Given the description of an element on the screen output the (x, y) to click on. 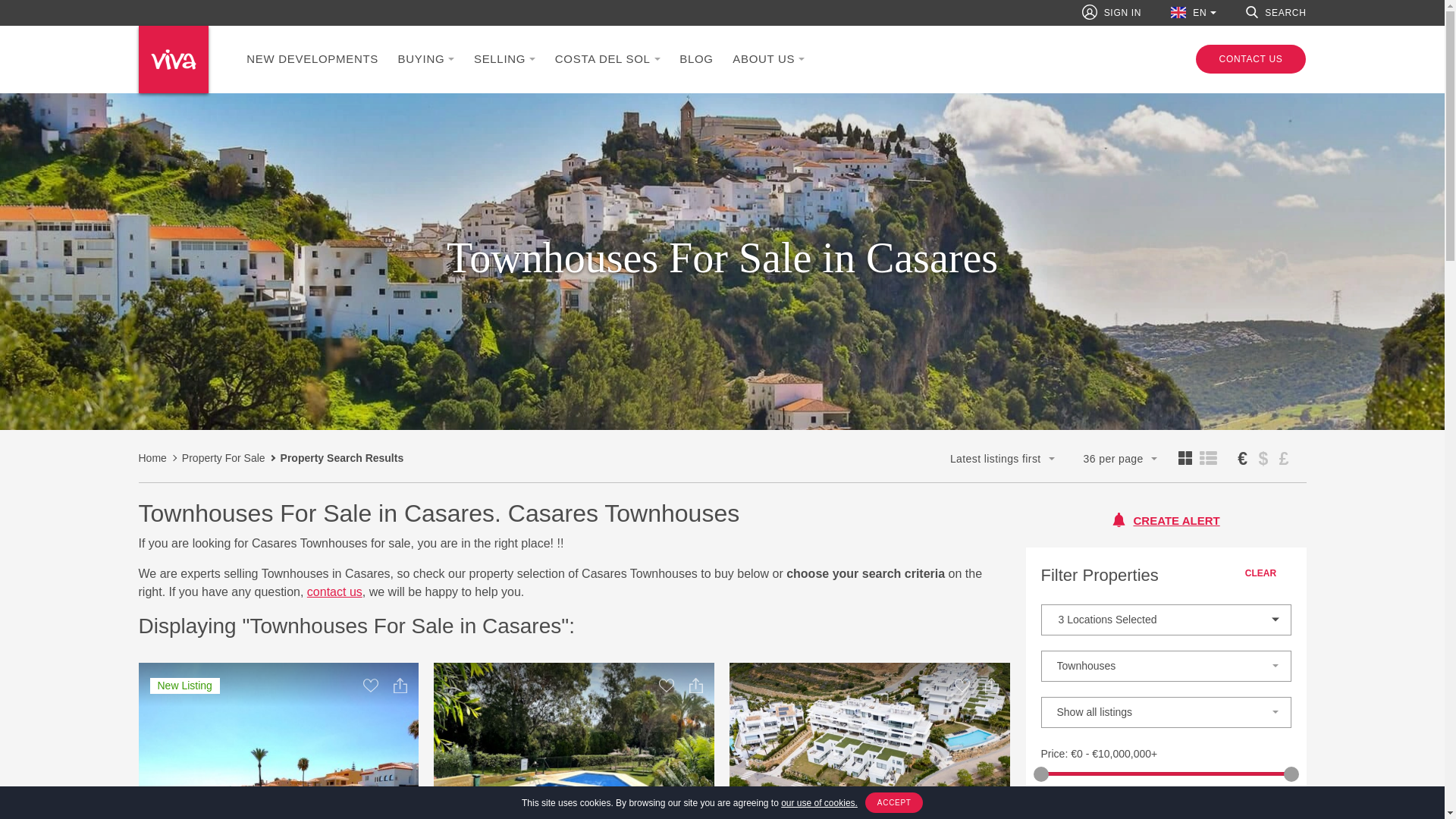
Property for sale in Spain, Costa del Sol (426, 59)
NEW DEVELOPMENTS (311, 59)
BUYING (426, 59)
SELLING (504, 59)
New Developments Costa del Sol (311, 59)
SEARCH (1276, 12)
EN (1192, 12)
SIGN IN (1111, 12)
